Given the description of an element on the screen output the (x, y) to click on. 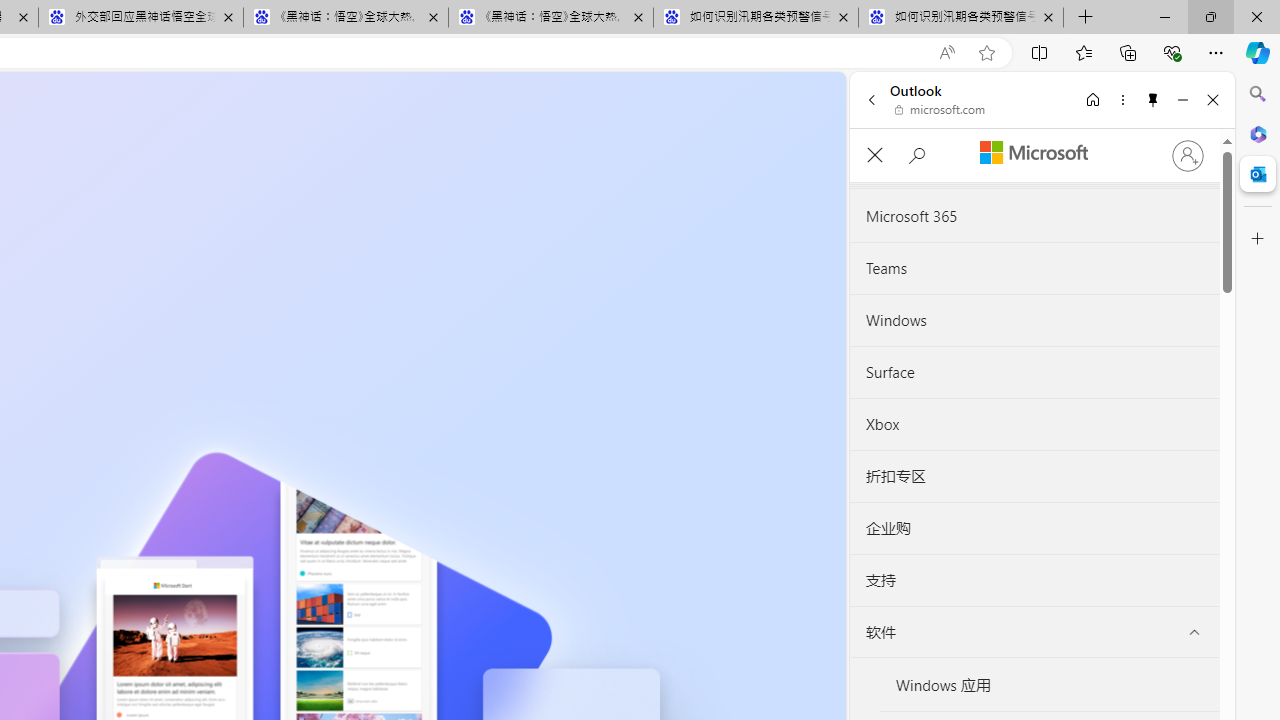
Unpin side pane (1153, 99)
Close All Microsoft list (874, 155)
